Given the description of an element on the screen output the (x, y) to click on. 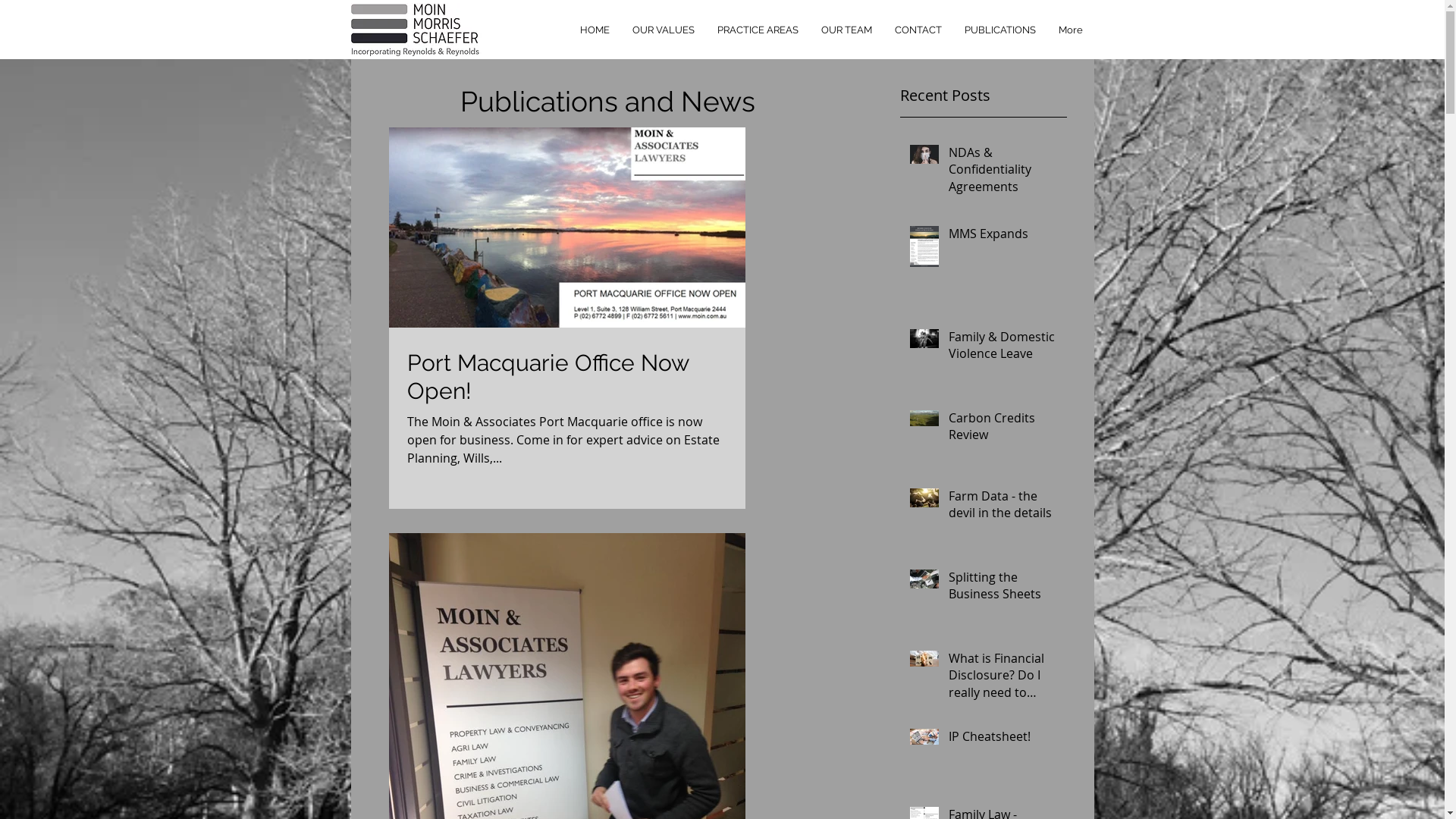
CONTACT Element type: text (917, 29)
Port Macquarie Office Now Open! Element type: text (566, 376)
OUR TEAM Element type: text (846, 29)
MMS Expands Element type: text (1002, 236)
IP Cheatsheet! Element type: text (1002, 739)
Splitting the Business Sheets Element type: text (1002, 588)
Family & Domestic Violence Leave Element type: text (1002, 348)
HOME Element type: text (594, 29)
OUR VALUES Element type: text (662, 29)
Carbon Credits Review Element type: text (1002, 429)
PUBLICATIONS Element type: text (999, 29)
Farm Data - the devil in the details Element type: text (1002, 507)
PRACTICE AREAS Element type: text (757, 29)
NDAs & Confidentiality Agreements Element type: text (1002, 172)
